Given the description of an element on the screen output the (x, y) to click on. 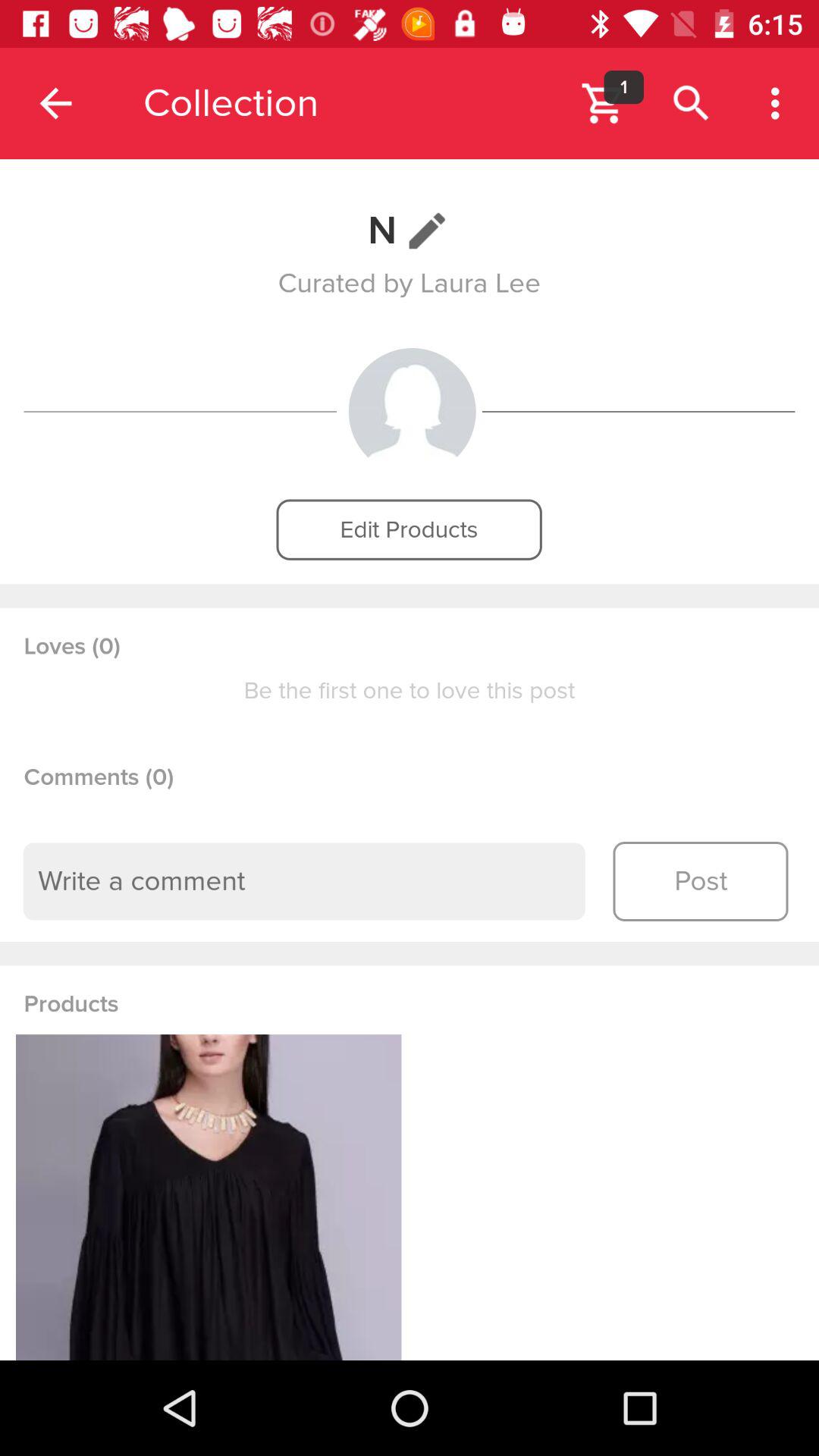
turn off the edit products icon (409, 529)
